Given the description of an element on the screen output the (x, y) to click on. 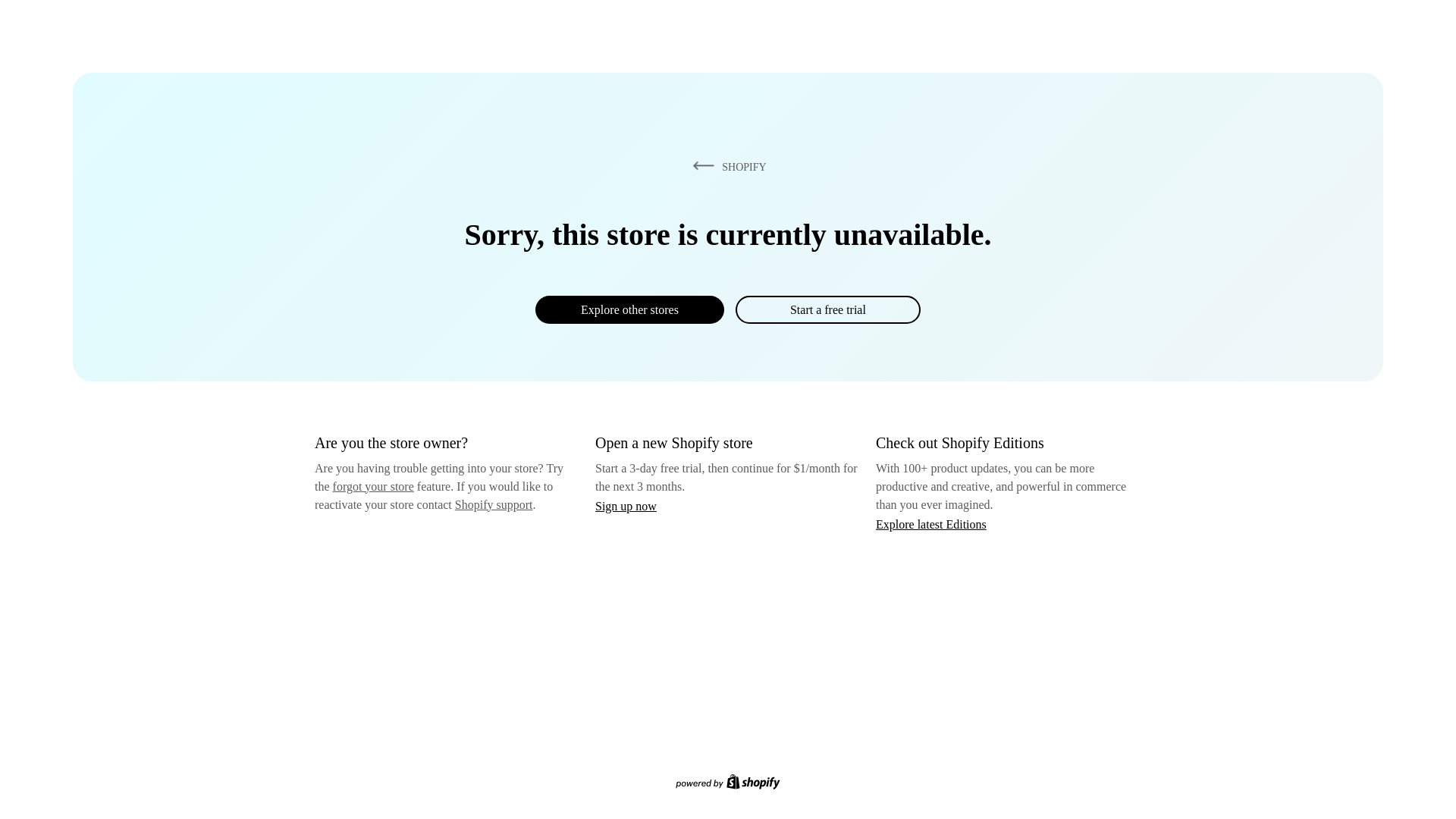
Shopify support (493, 504)
Explore other stores (629, 309)
Explore latest Editions (931, 523)
SHOPIFY (726, 166)
Sign up now (625, 505)
Start a free trial (827, 309)
forgot your store (373, 486)
